Given the description of an element on the screen output the (x, y) to click on. 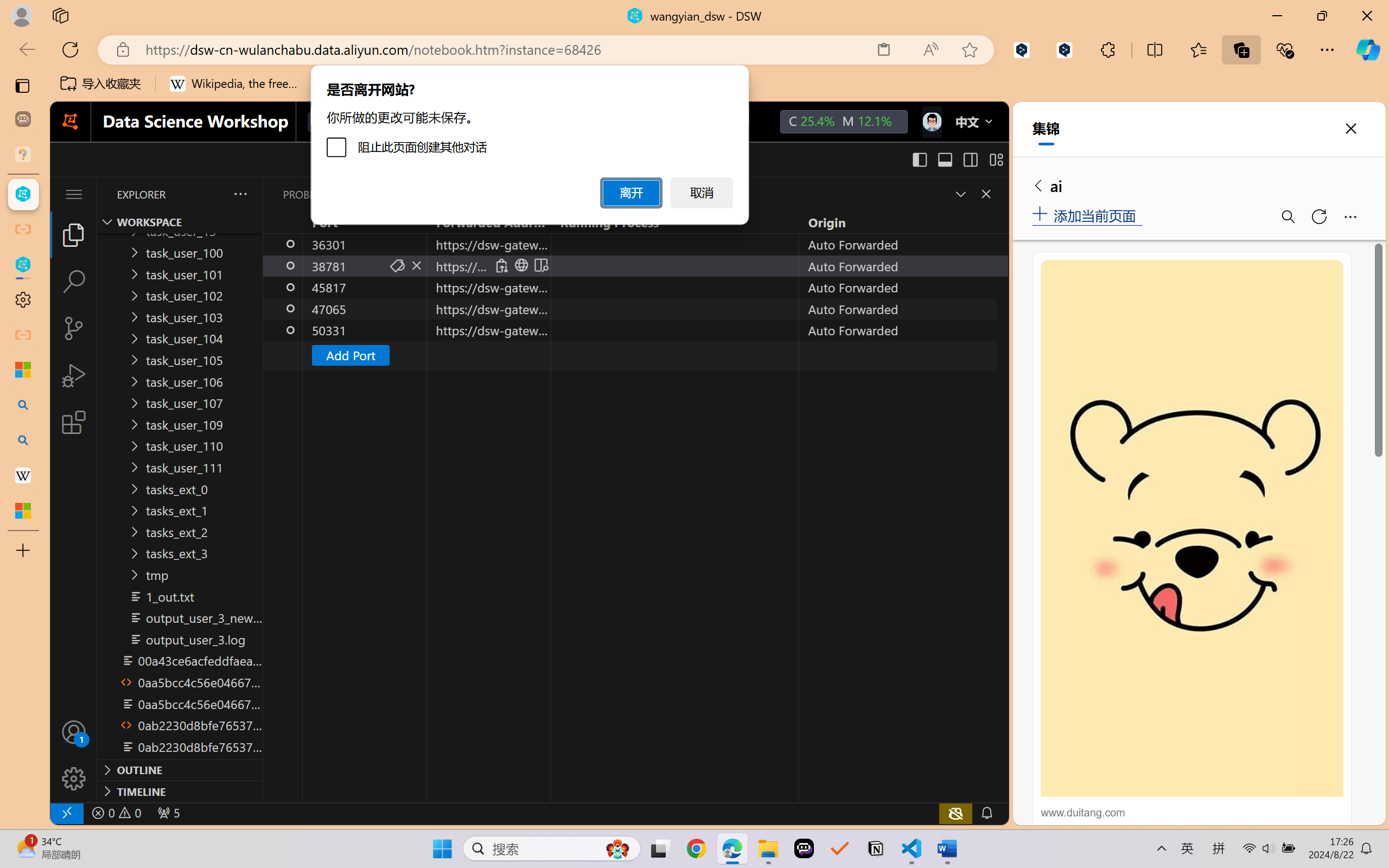
No Problems (115, 812)
Earth - Wikipedia (22, 475)
Views and More Actions... (239, 193)
Search (Ctrl+Shift+F) (73, 281)
Source Control (Ctrl+Shift+G) (73, 328)
